Given the description of an element on the screen output the (x, y) to click on. 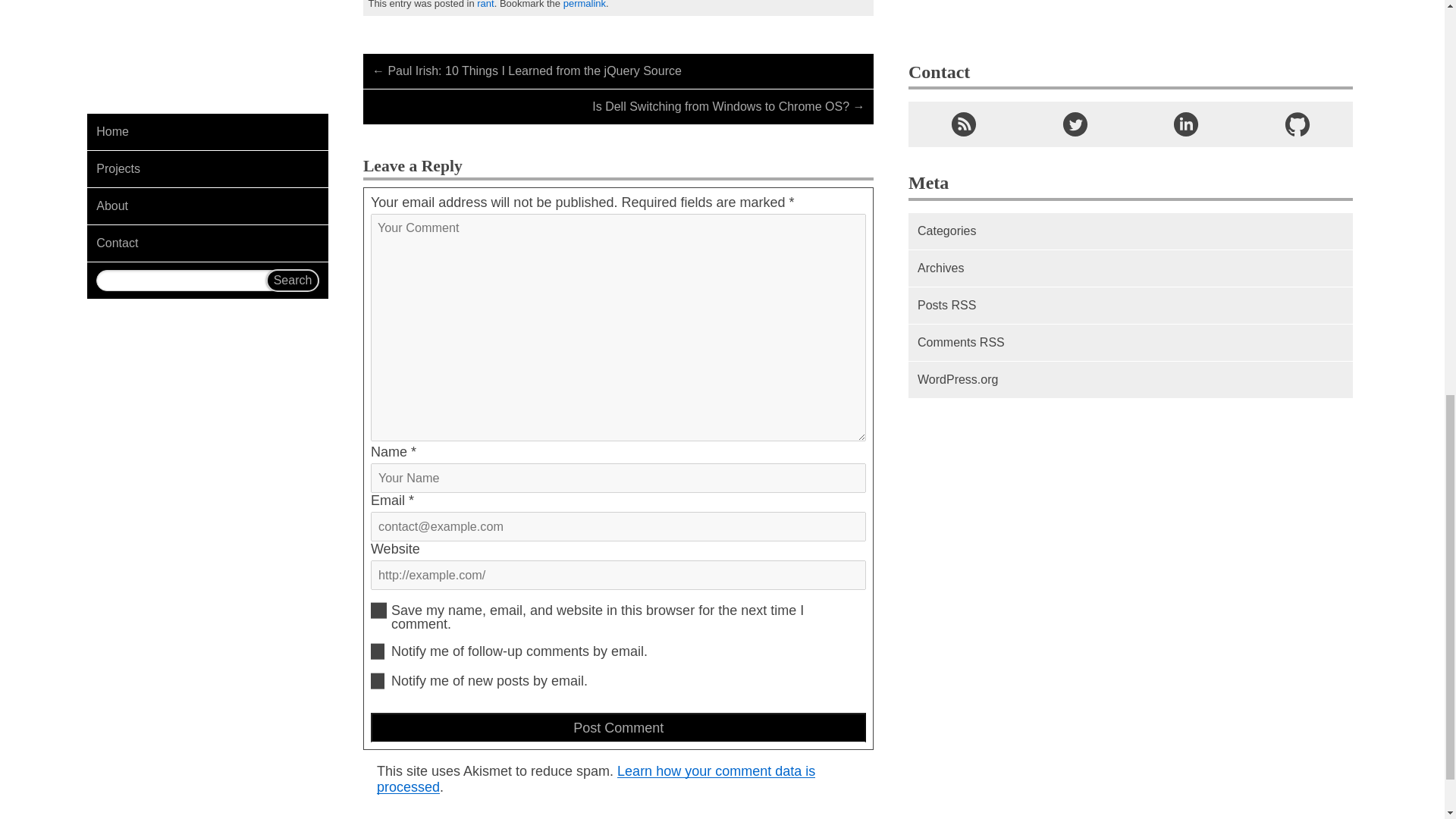
Learn how your comment data is processed (596, 778)
Post Comment (618, 727)
permalink (584, 4)
Permalink to Afghanistan: Hope for the Future, in the Past? (584, 4)
yes (379, 610)
rant (485, 4)
Post Comment (618, 727)
